Given the description of an element on the screen output the (x, y) to click on. 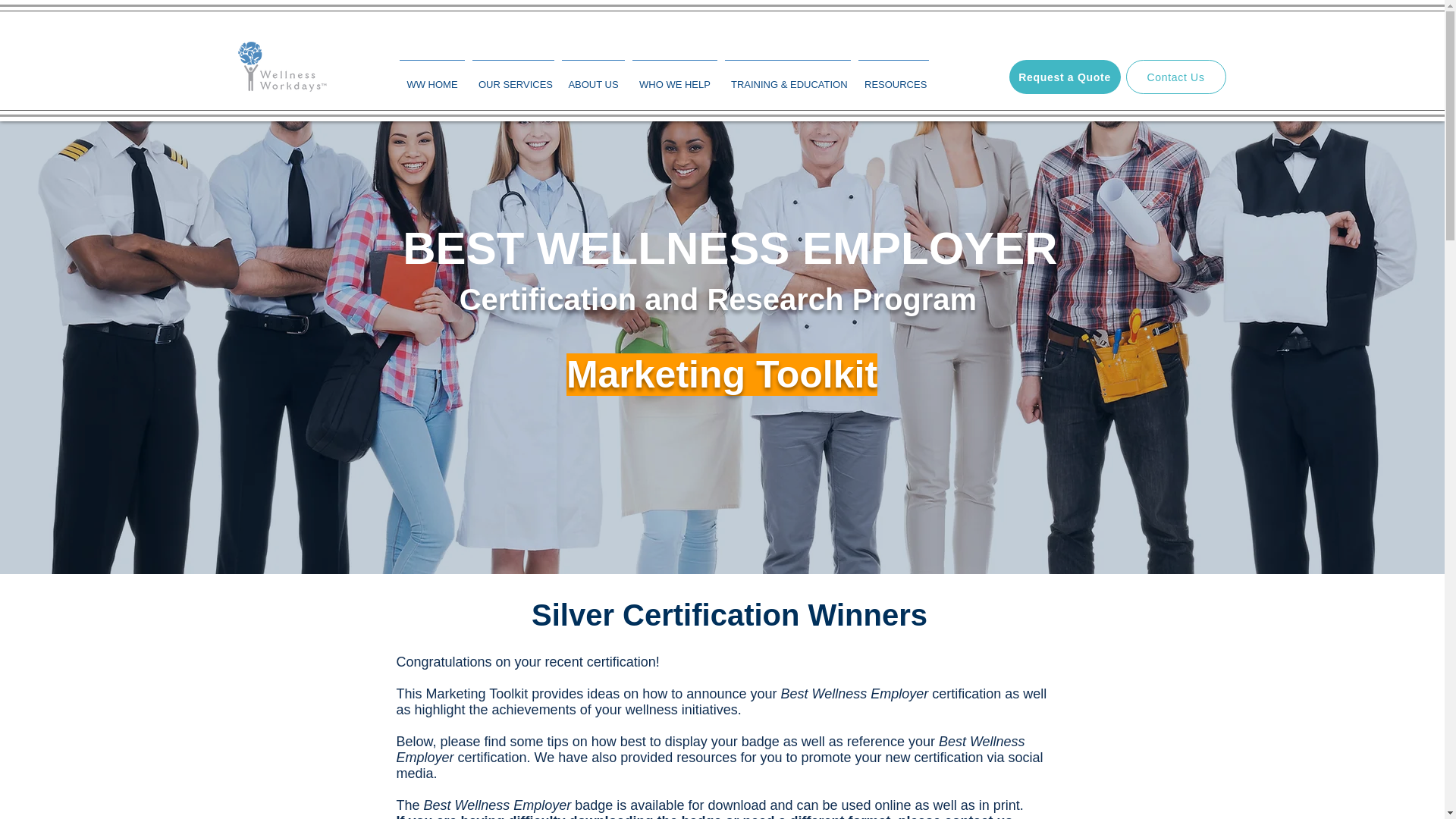
Contact Us (1175, 76)
WW HOME (432, 77)
contact us (978, 816)
Request a Quote (1064, 76)
